Given the description of an element on the screen output the (x, y) to click on. 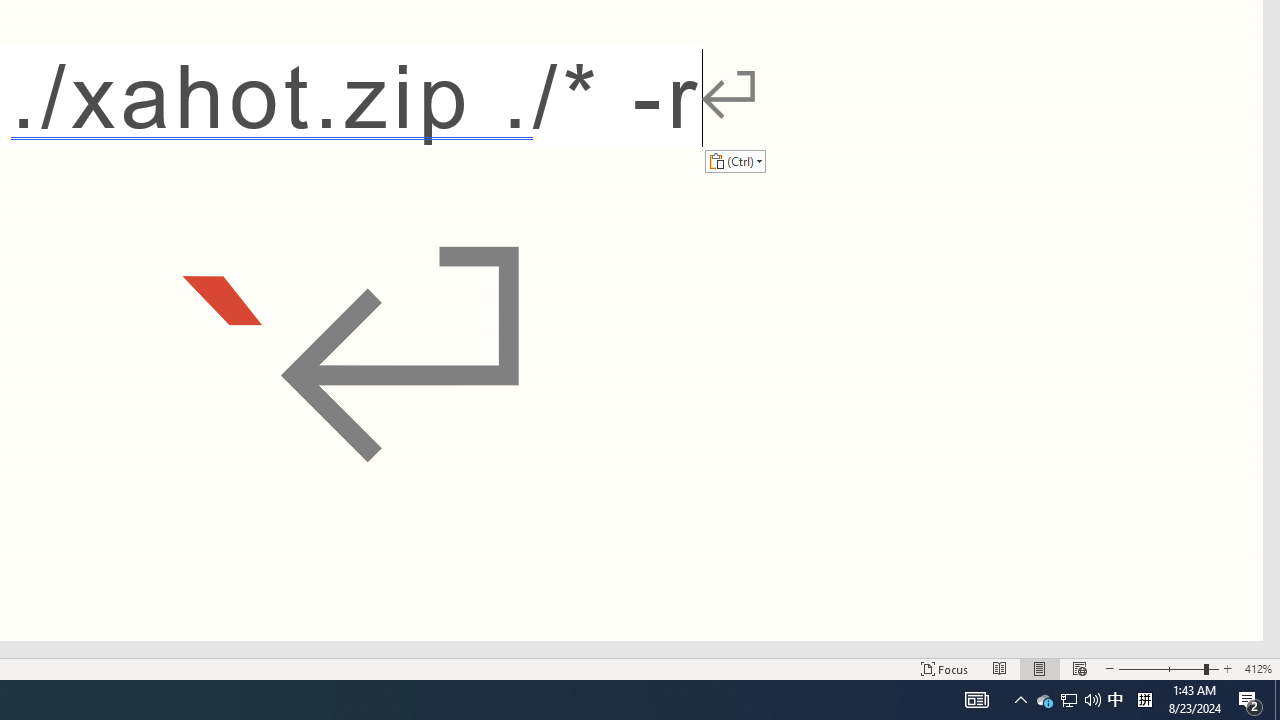
Action: Paste alternatives (735, 160)
Zoom 412% (1258, 668)
